Given the description of an element on the screen output the (x, y) to click on. 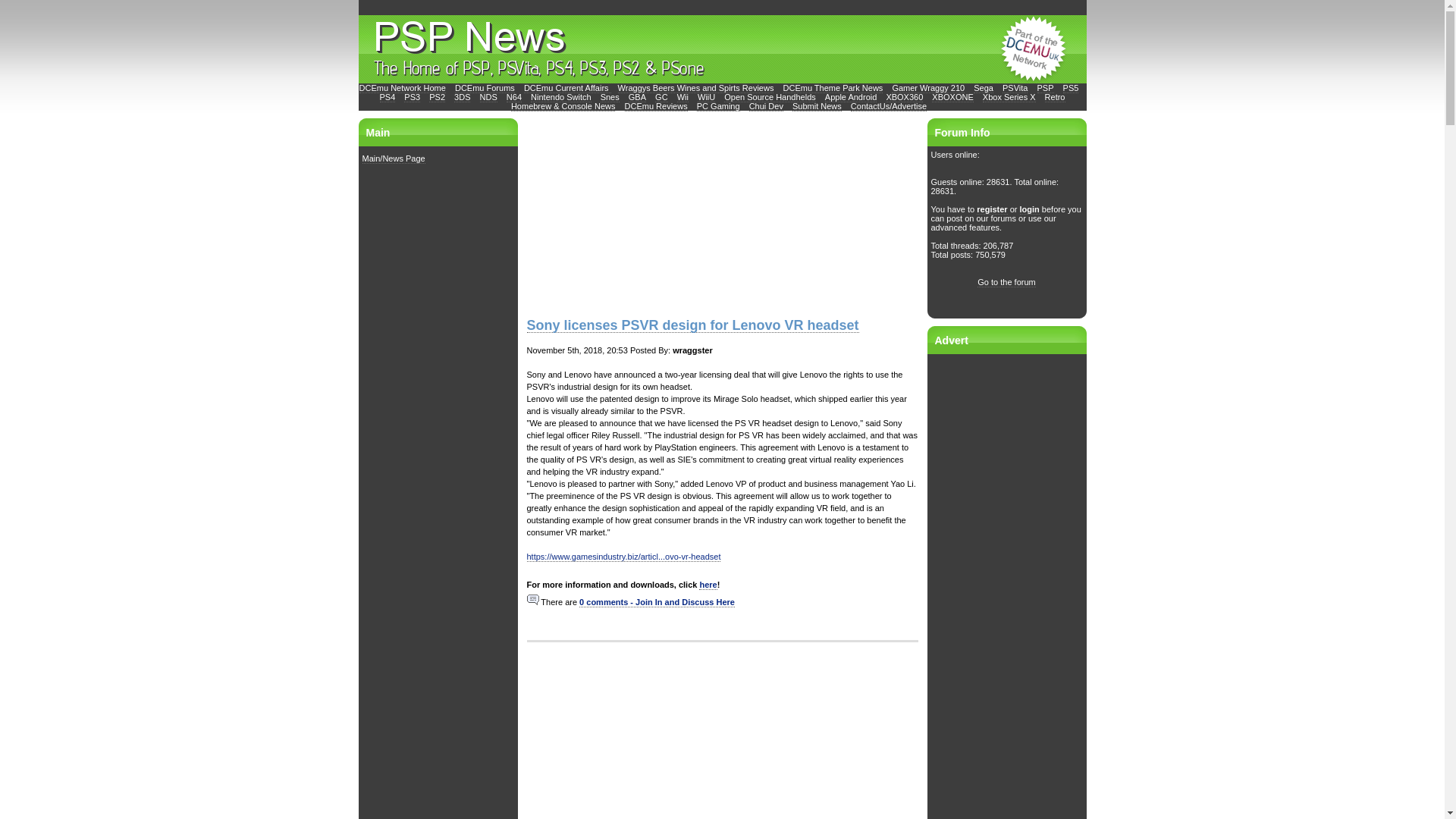
Gamer Wraggy 210 (927, 88)
NDS (488, 97)
WiiU (705, 97)
Advertisement (638, 212)
Wraggys Beers Wines and Spirts Reviews (695, 88)
PS3 (412, 97)
Advertisement (1007, 585)
Apple Android (851, 97)
Advertisement (721, 730)
DCEmu Current Affairs (567, 88)
PSVita (1015, 88)
DCEmu Network Home (402, 88)
Chui Dev (766, 106)
DCEmu Theme Park News (832, 88)
PS2 (437, 97)
